Given the description of an element on the screen output the (x, y) to click on. 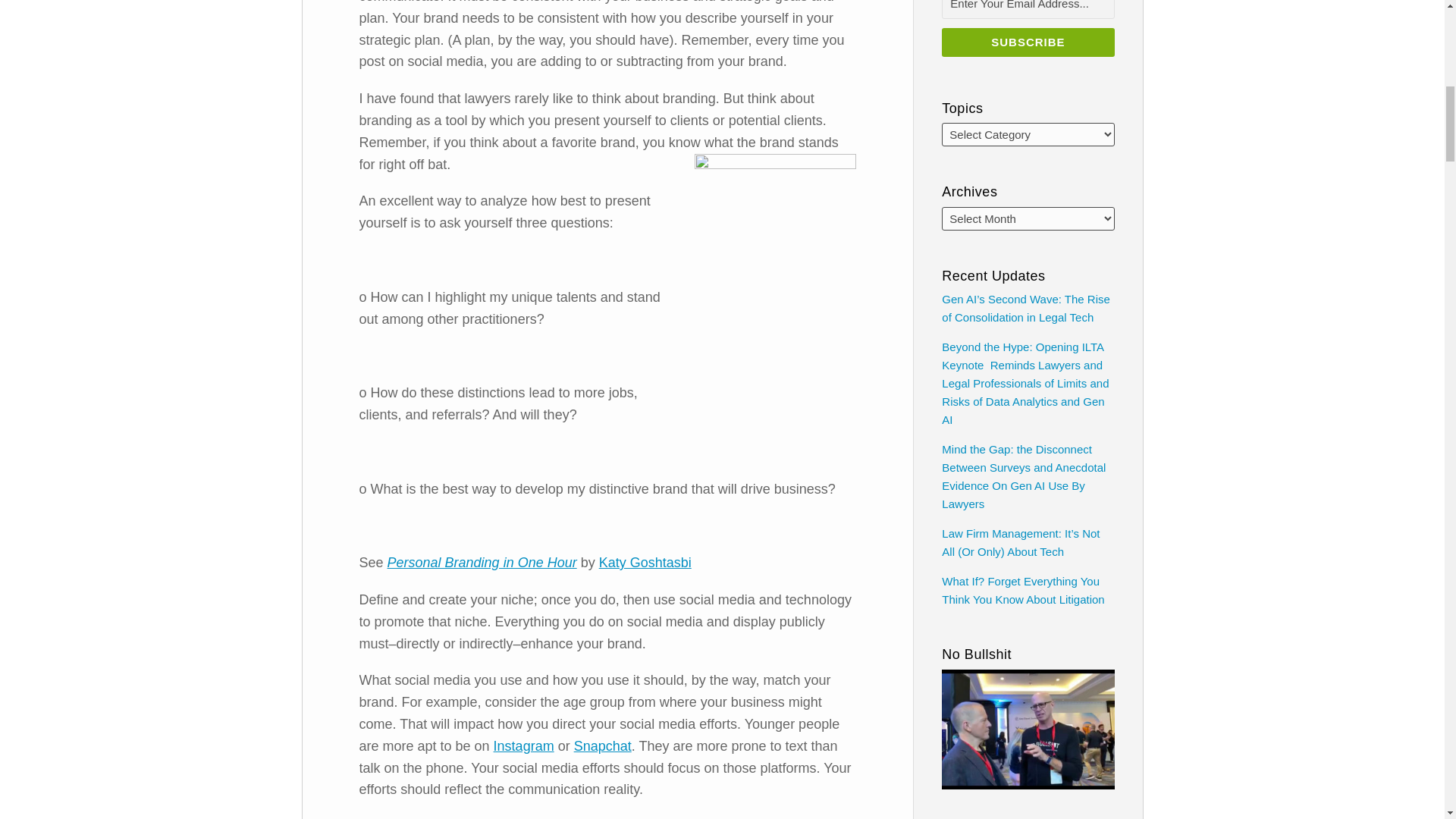
Snapchat (602, 745)
Katy Goshtasbi (644, 562)
Subscribe (1027, 41)
Instagram (523, 745)
Personal Branding in One Hour (481, 562)
